Given the description of an element on the screen output the (x, y) to click on. 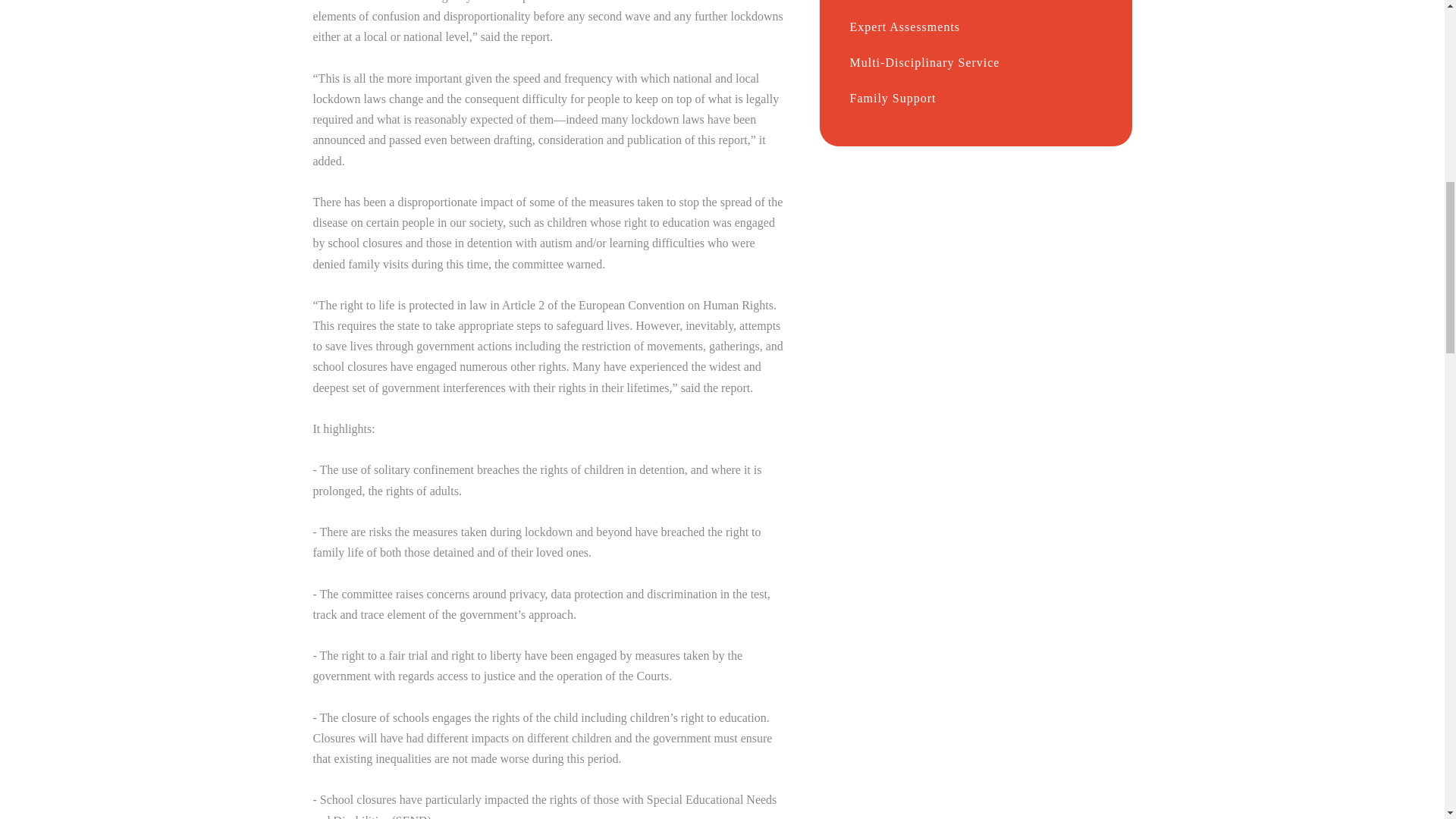
Family Support (974, 22)
Multi-Disciplinary Service (974, 2)
